Given the description of an element on the screen output the (x, y) to click on. 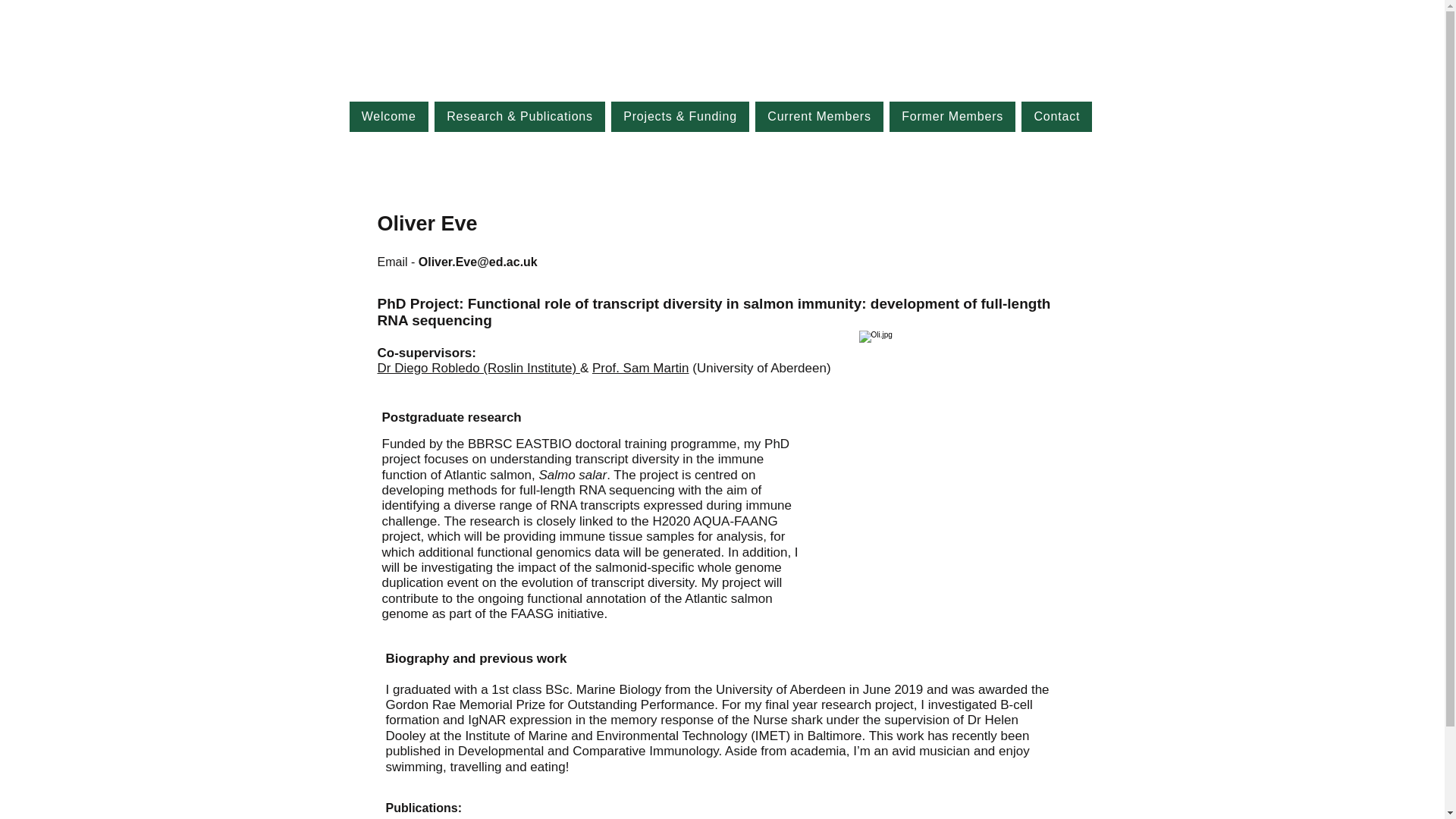
Former Members (951, 116)
Current Members (819, 116)
Prof. Sam Martin (640, 368)
Contact (1057, 116)
Welcome (388, 116)
